Given the description of an element on the screen output the (x, y) to click on. 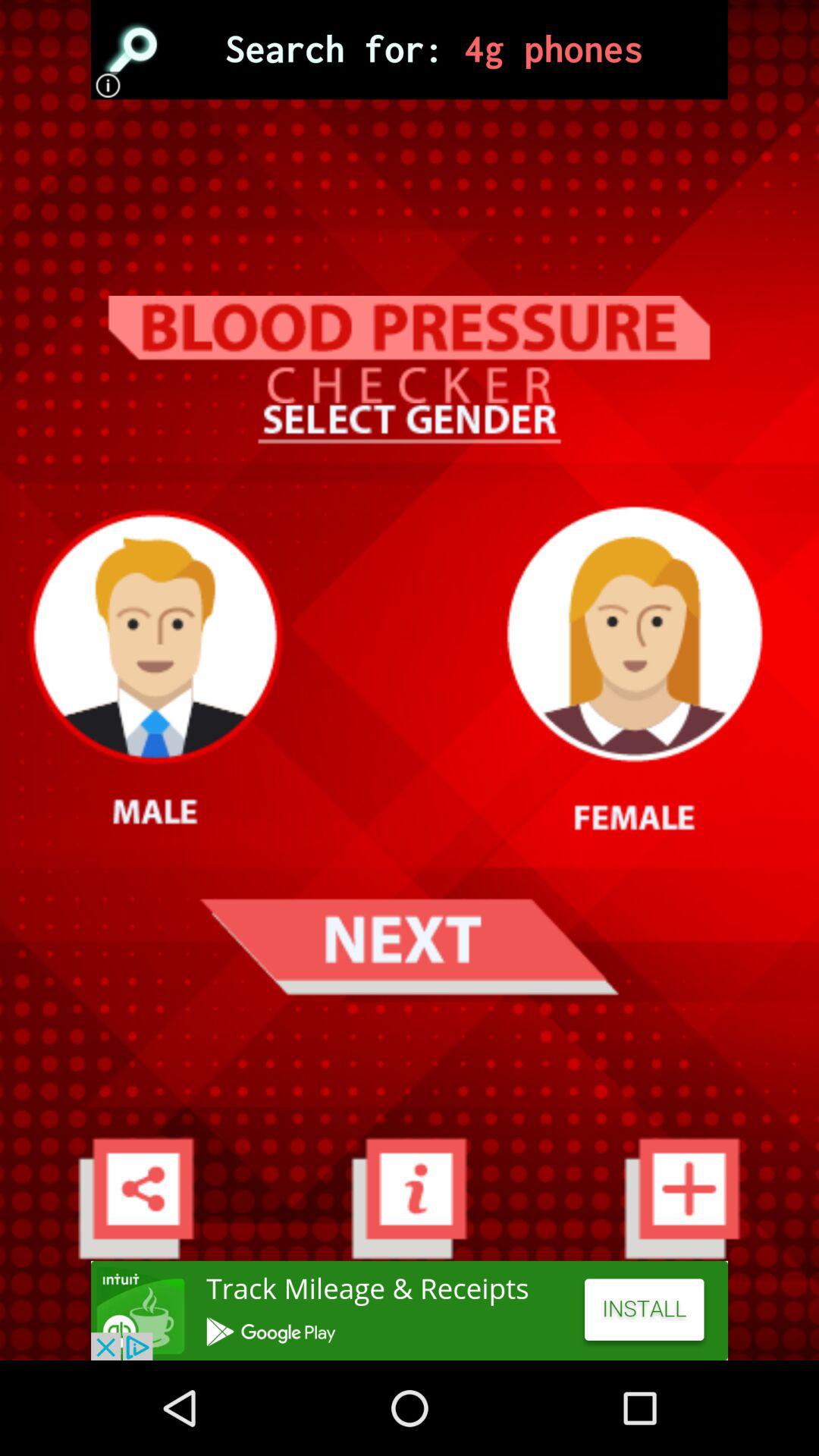
make advertisement (409, 1310)
